Given the description of an element on the screen output the (x, y) to click on. 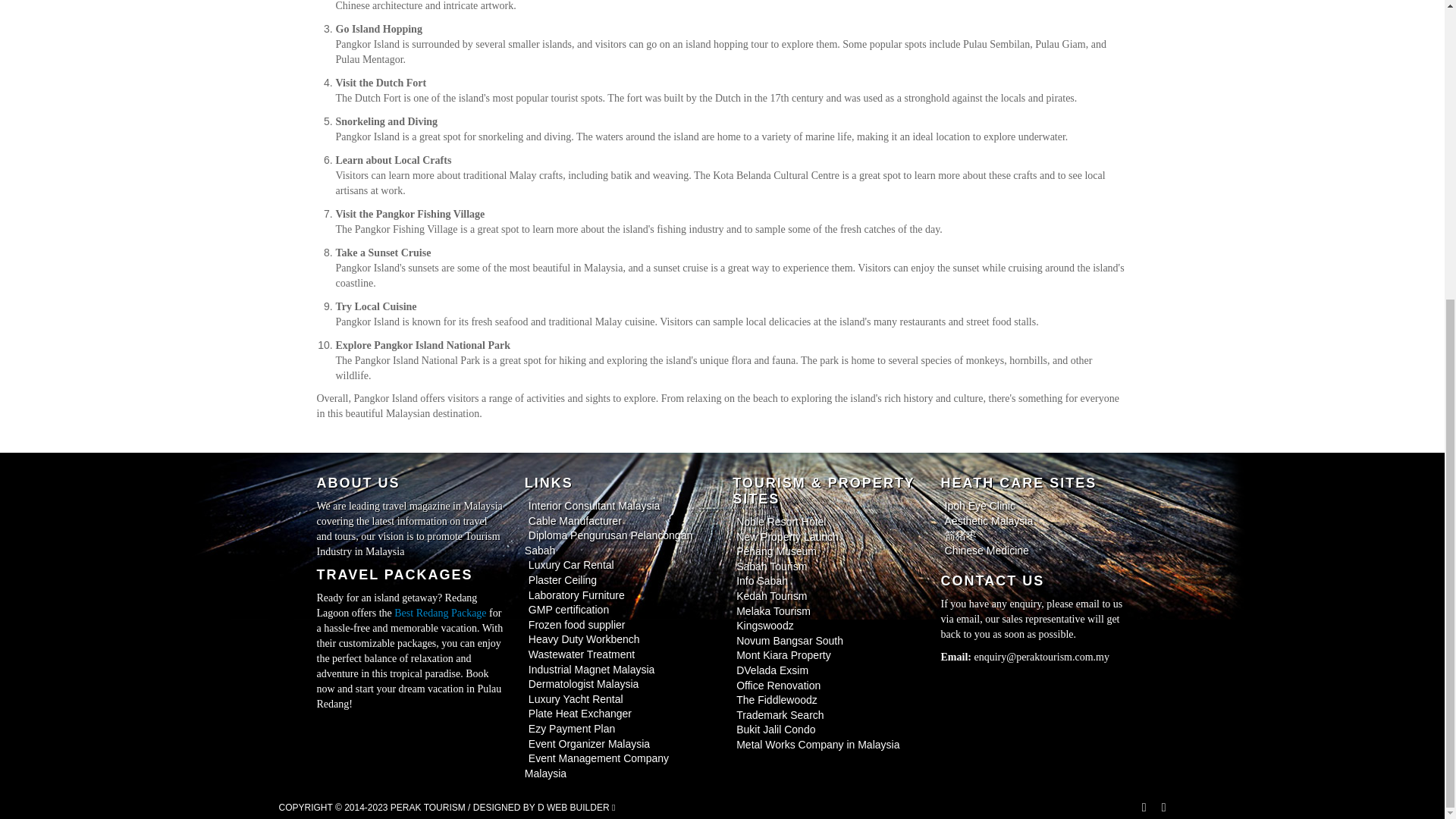
Novum Bangsar South Condo (789, 640)
New Property Launch (787, 536)
Luxury Car Rental (570, 564)
Heavy Duty Workbench (583, 639)
GMP certification (568, 609)
Interior Consultant Malaysia (593, 505)
Event Organizer Malaysia (588, 743)
Diploma Pengurusan Pelancongan Sabah (608, 542)
Wastewater Treatment (581, 654)
Kingswoodz Bukit Jalil (764, 625)
Cable Manufacturer Malaysia (575, 521)
Penang Museum (776, 551)
Industrial Magnet Malaysia (591, 669)
Interior Consultant Malaysia (593, 505)
Heavy Duty Workbench (583, 639)
